Given the description of an element on the screen output the (x, y) to click on. 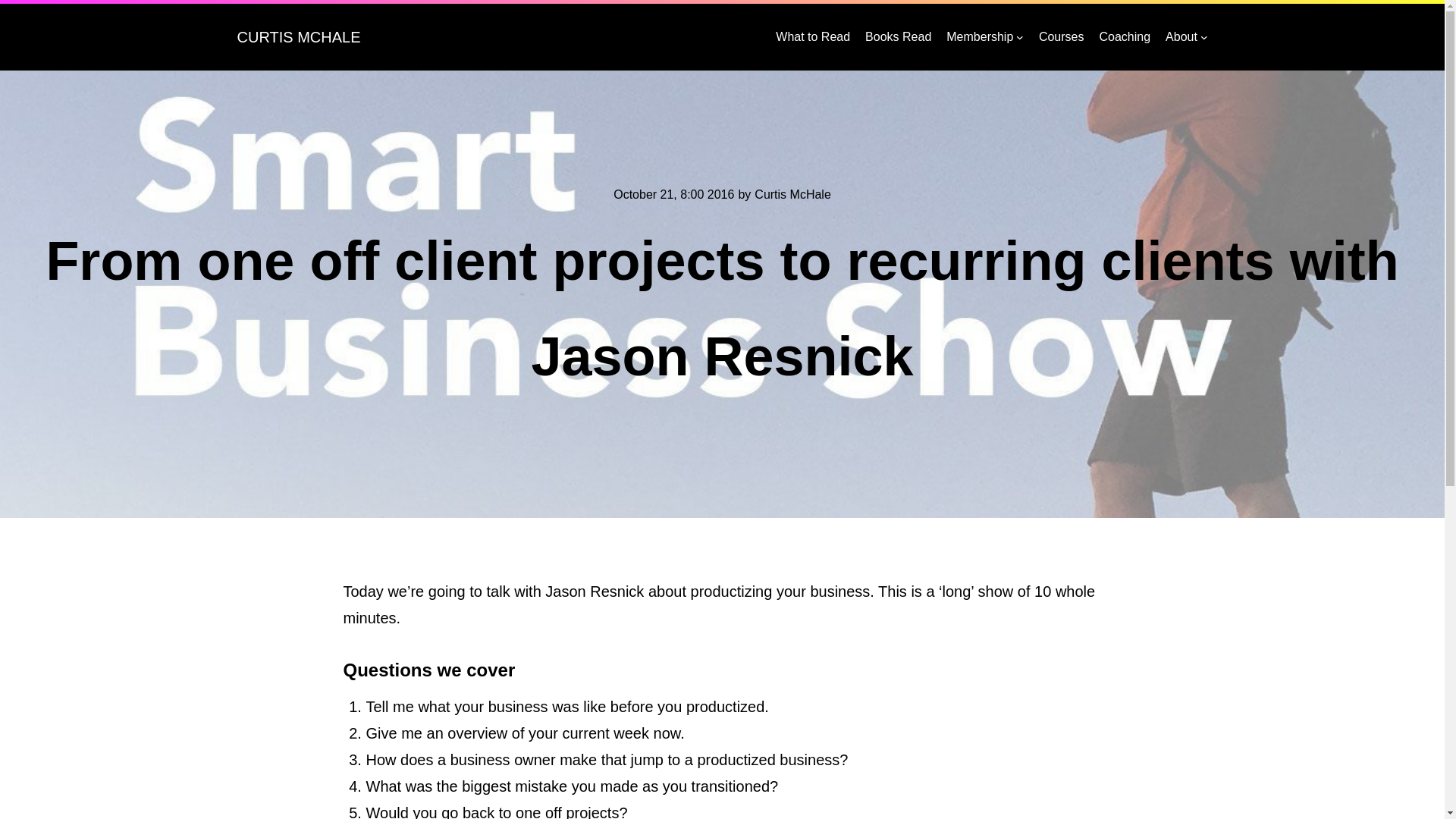
Books Read (897, 36)
CURTIS MCHALE (297, 36)
Membership (979, 36)
What to Read (813, 36)
About (1181, 36)
Courses (1061, 36)
Coaching (1124, 36)
